Given the description of an element on the screen output the (x, y) to click on. 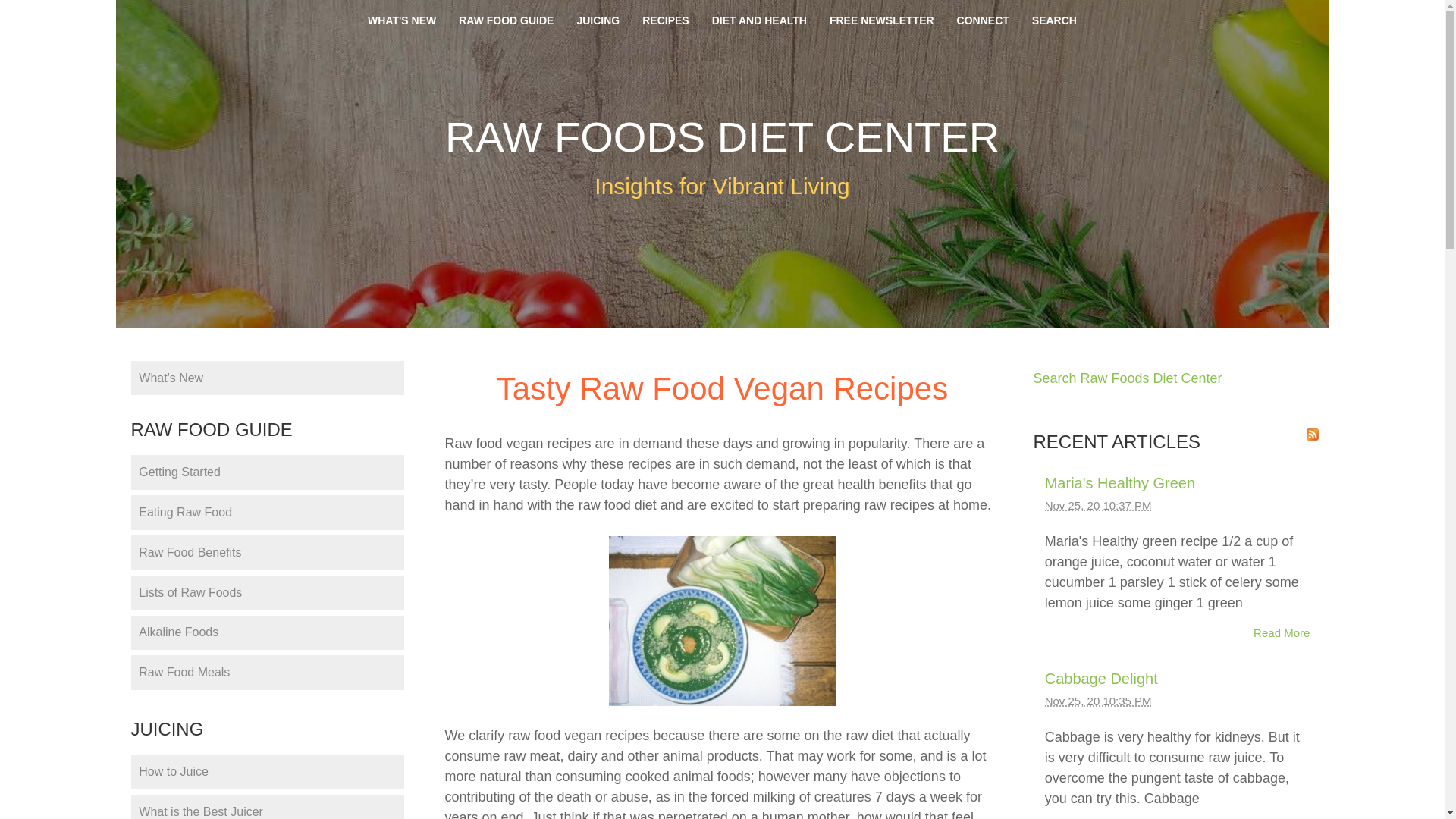
SEARCH (1053, 20)
2020-11-25T22:35:56-0500 (1098, 700)
WHAT'S NEW (401, 20)
What's New (267, 378)
FREE NEWSLETTER (881, 20)
2020-11-25T22:37:25-0500 (1098, 504)
RAW FOODS DIET CENTER (721, 136)
